Given the description of an element on the screen output the (x, y) to click on. 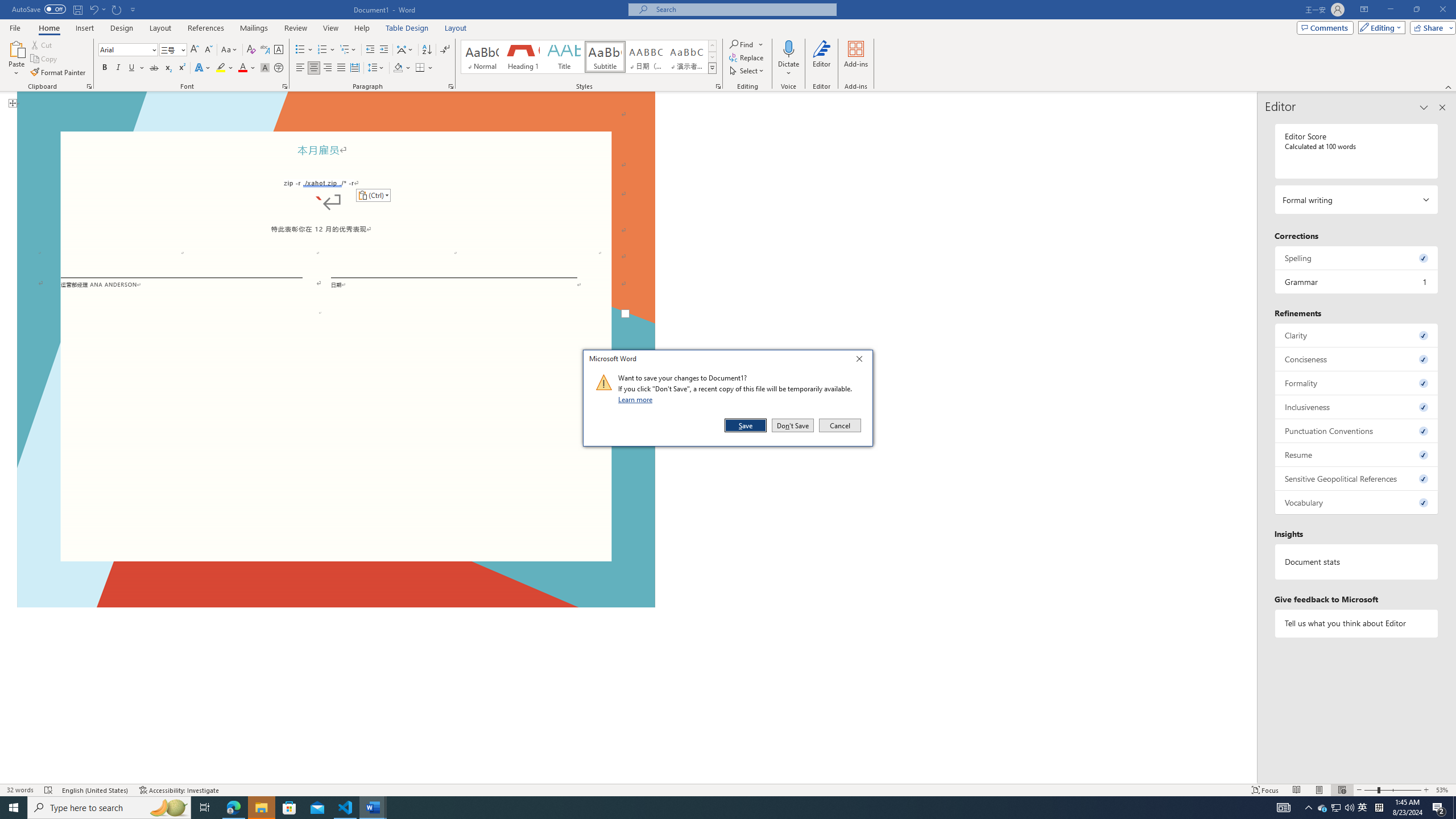
Show desktop (1454, 807)
Resume, 0 issues. Press space or enter to review items. (1356, 454)
Learn more (636, 399)
Clarity, 0 issues. Press space or enter to review items. (1356, 335)
Microsoft Edge - 1 running window (233, 807)
Find (742, 44)
Spelling and Grammar Check Errors (48, 790)
Show/Hide Editing Marks (444, 49)
Decrease Indent (370, 49)
Search highlights icon opens search home window (167, 807)
Accessibility Checker Accessibility: Investigate (179, 790)
Font Color Red (241, 67)
Running applications (700, 807)
Read Mode (1296, 790)
